Given the description of an element on the screen output the (x, y) to click on. 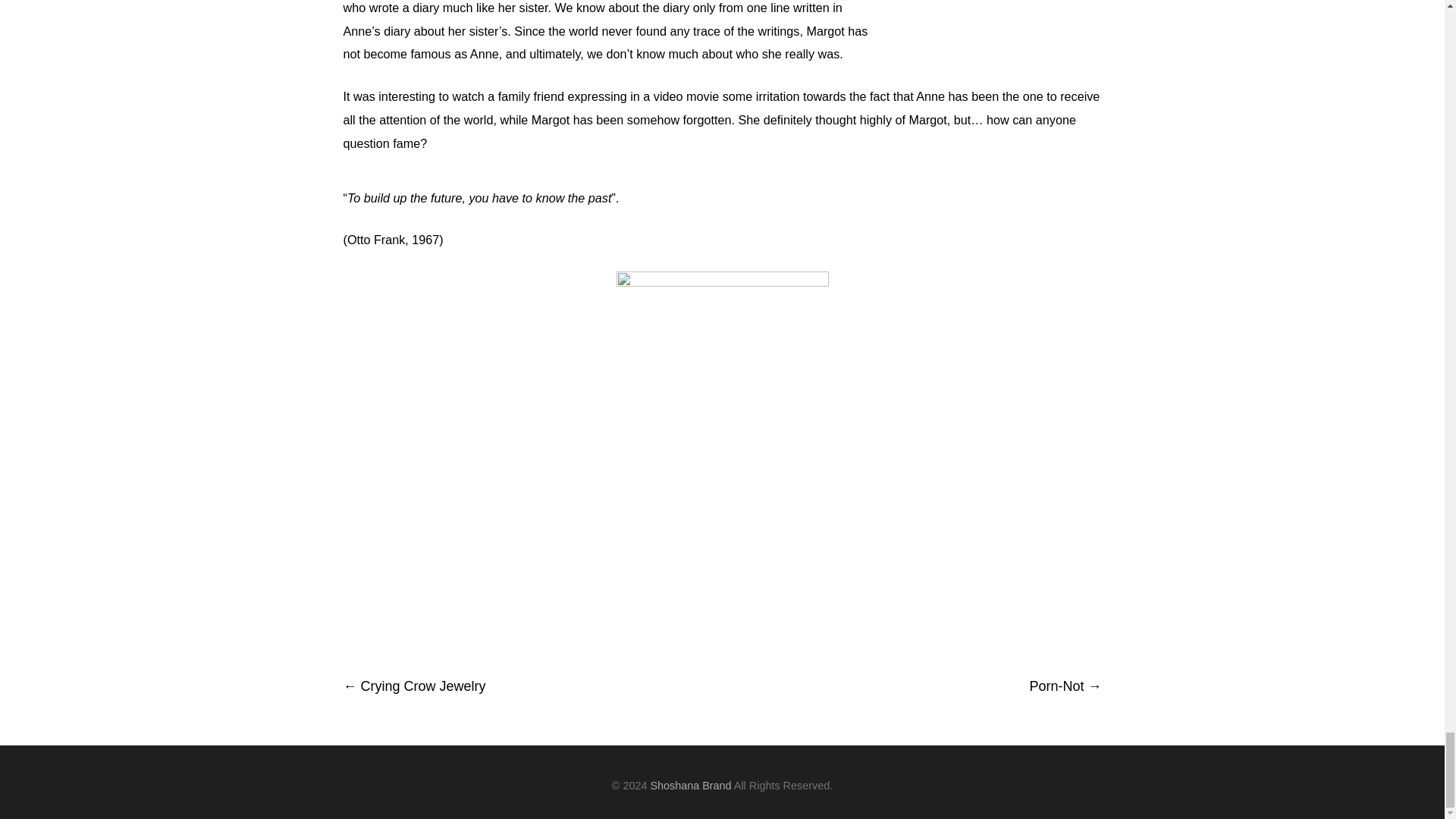
Shoshana Brand (689, 785)
